Given the description of an element on the screen output the (x, y) to click on. 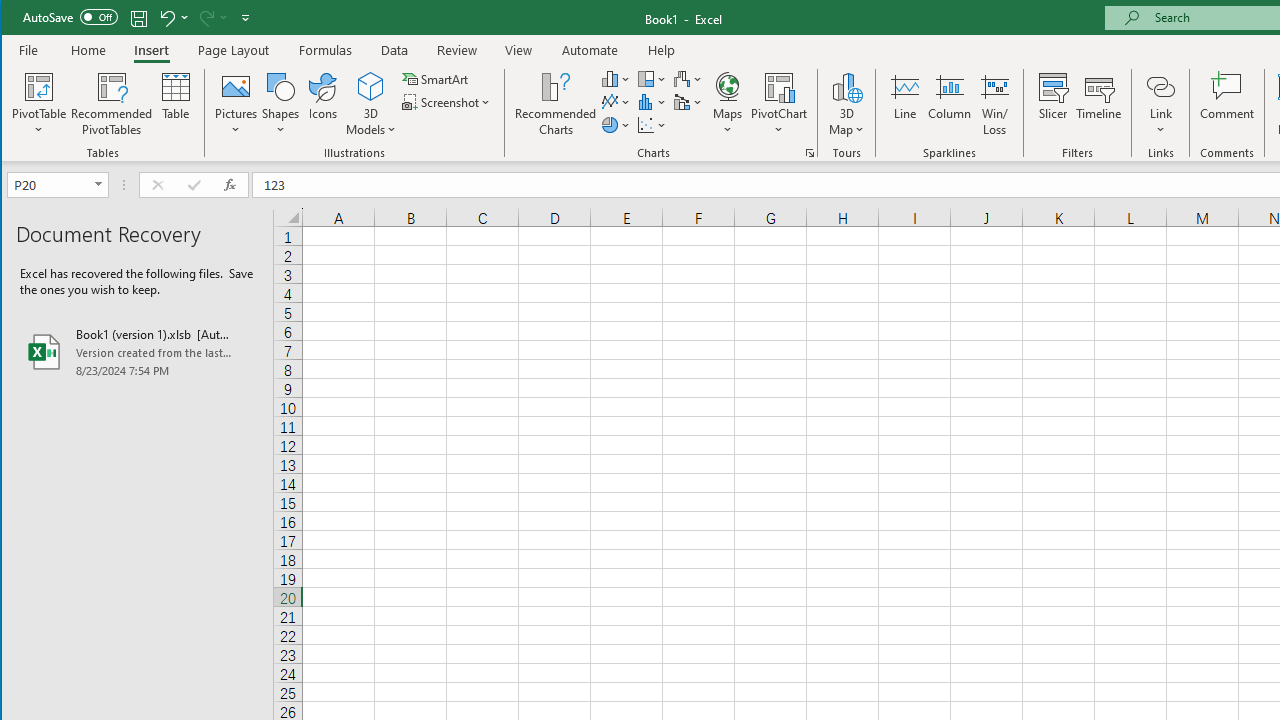
3D Map (846, 86)
Quick Access Toolbar (137, 17)
Insert Statistic Chart (652, 101)
Book1 (version 1).xlsb  [AutoRecovered] (137, 352)
Insert Pie or Doughnut Chart (616, 124)
Screenshot (447, 101)
View (518, 50)
Insert Column or Bar Chart (616, 78)
3D Map (846, 104)
PivotChart (779, 86)
PivotTable (39, 104)
3D Models (371, 104)
Insert Line or Area Chart (616, 101)
